Given the description of an element on the screen output the (x, y) to click on. 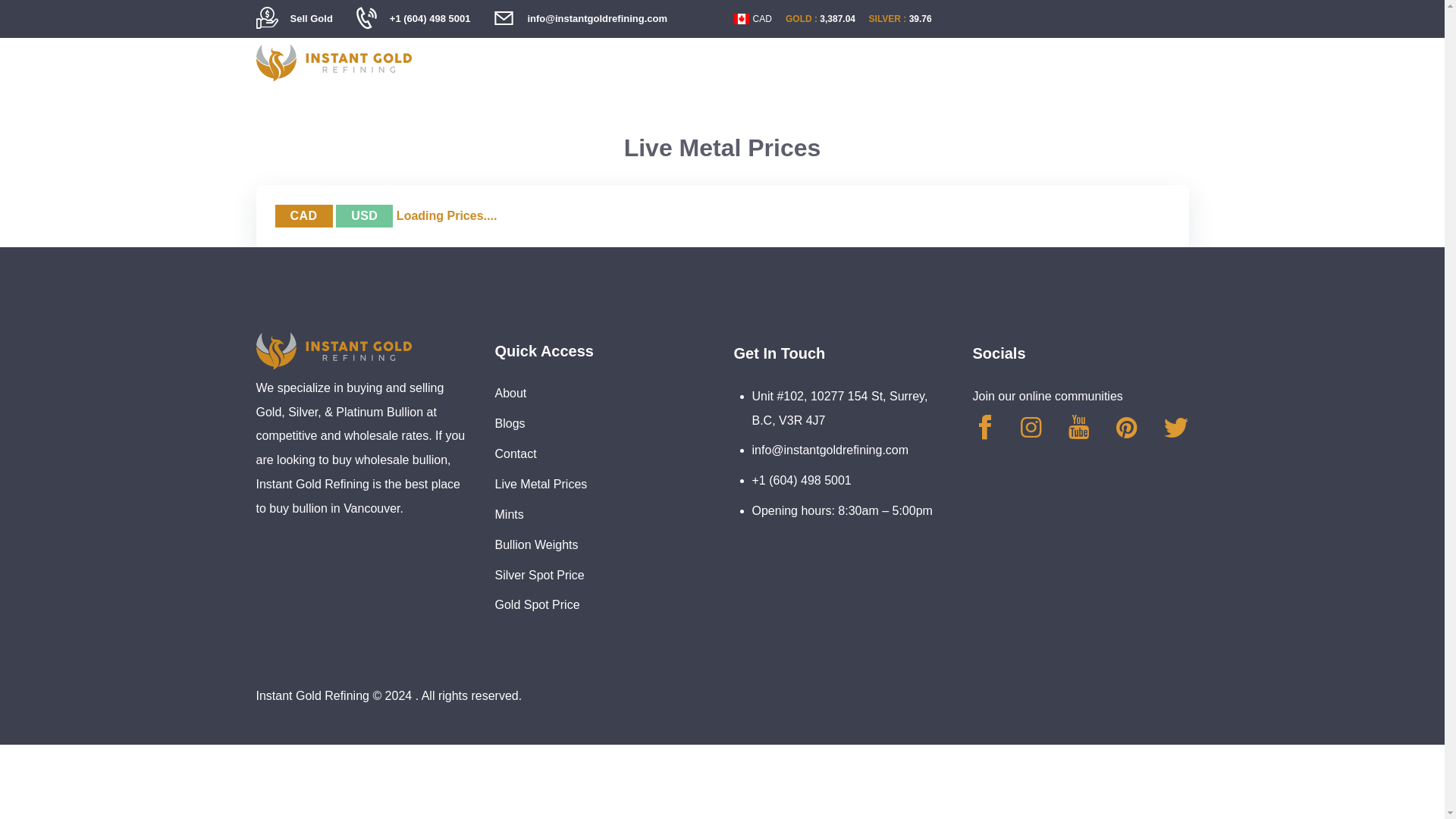
CAD (303, 215)
USD (364, 215)
